Given the description of an element on the screen output the (x, y) to click on. 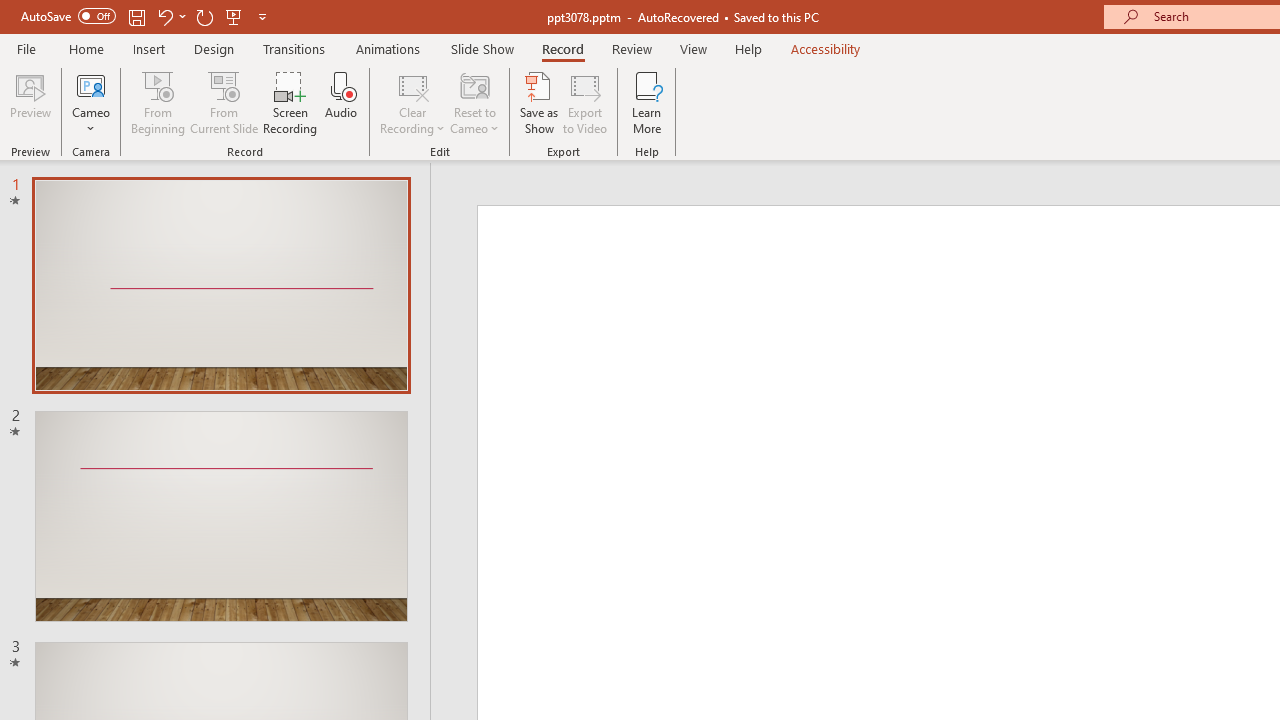
Clear Recording (412, 102)
Save as Show (539, 102)
From Current Slide... (224, 102)
Slide (221, 515)
Learn More (646, 102)
Audio (341, 102)
Reset to Cameo (474, 102)
Cameo (91, 84)
